Given the description of an element on the screen output the (x, y) to click on. 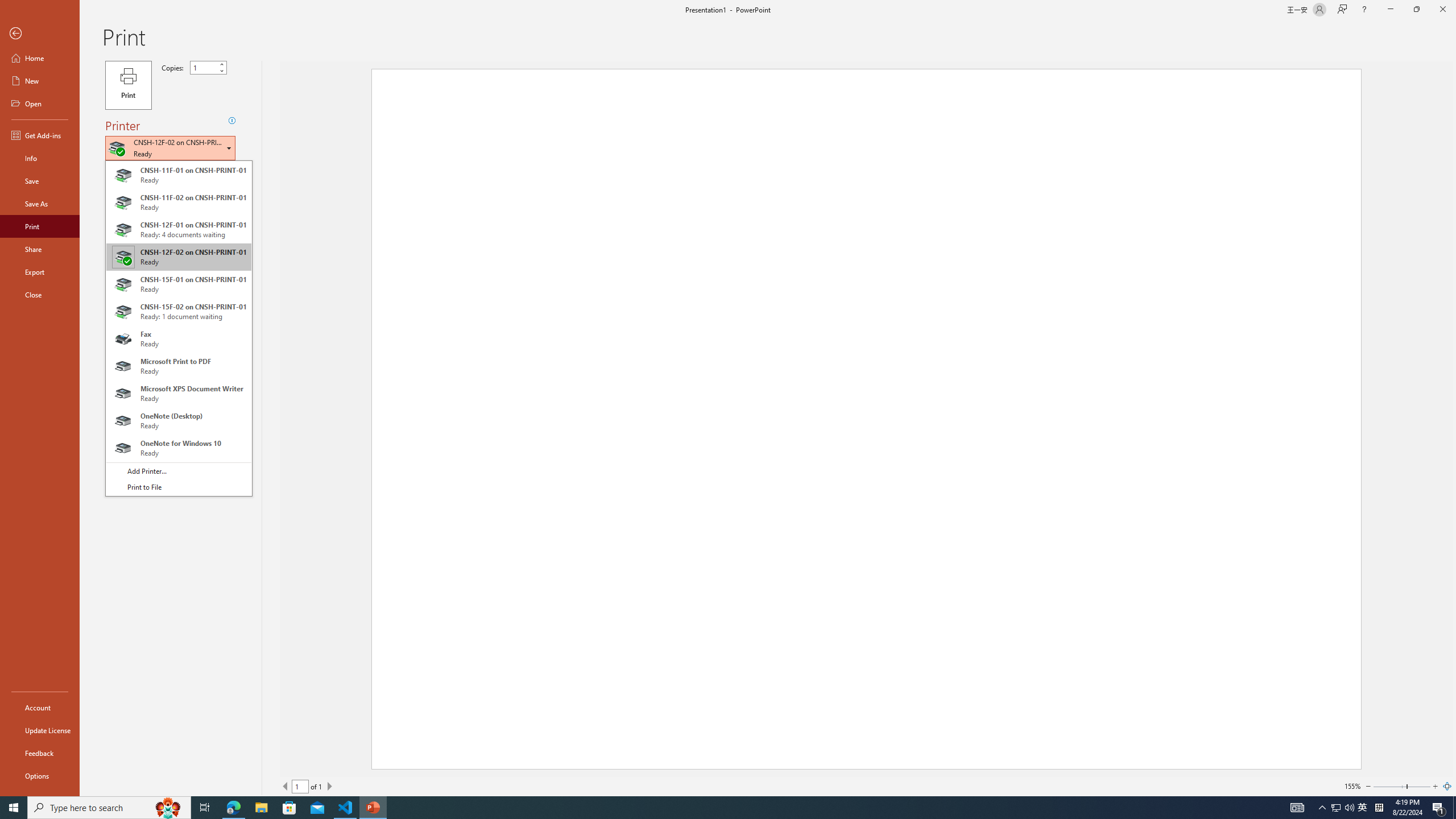
Page left (1389, 786)
Current Page (300, 786)
Zoom to Page (1447, 786)
Get Add-ins (40, 134)
Previous Page (285, 786)
Export (40, 271)
